Given the description of an element on the screen output the (x, y) to click on. 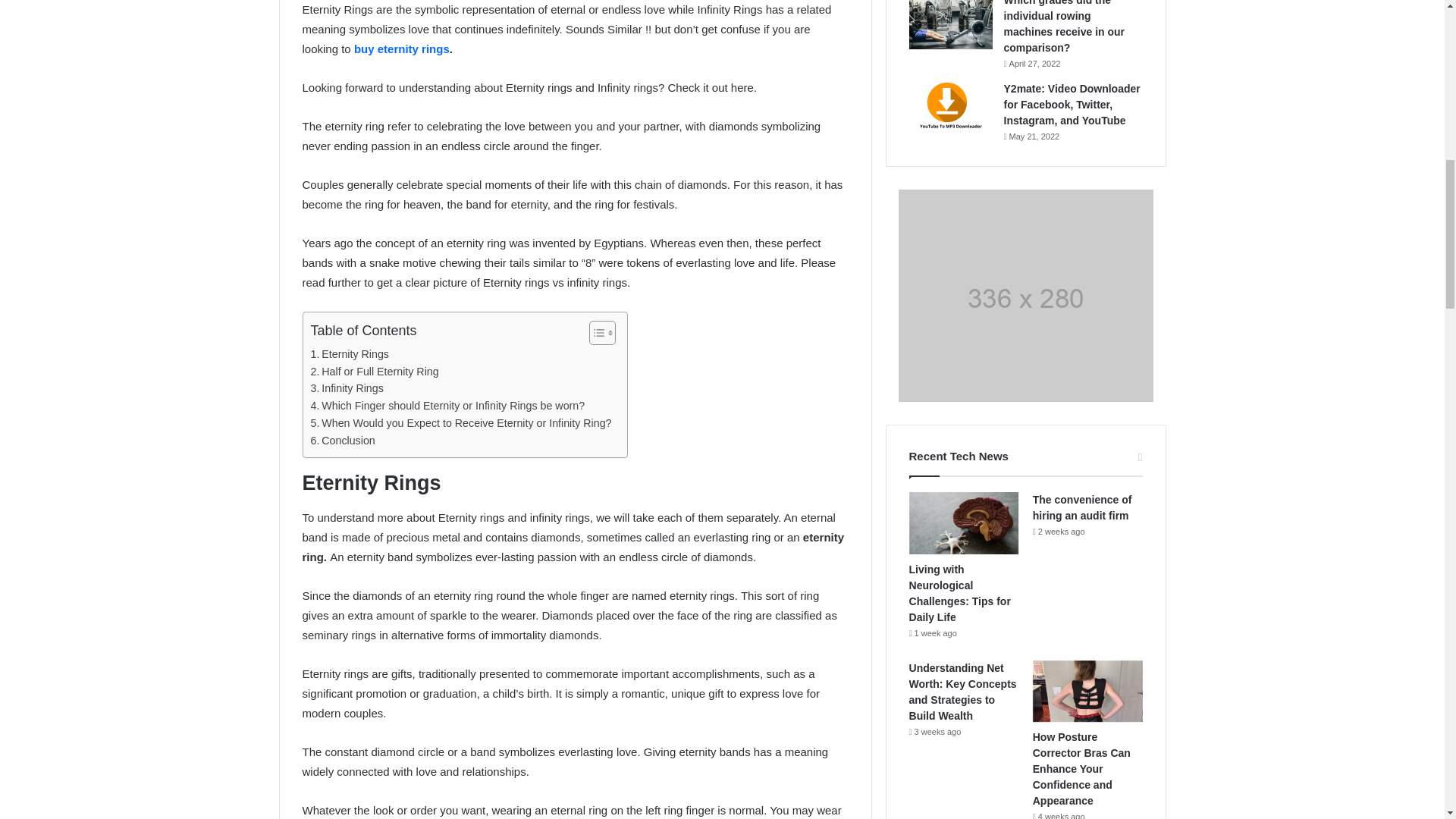
Conclusion (343, 440)
Which Finger should Eternity or Infinity Rings be worn? (448, 405)
When Would you Expect to Receive Eternity or Infinity Ring? (461, 423)
Half or Full Eternity Ring (375, 371)
Eternity Rings (349, 354)
Infinity Rings (347, 388)
